Given the description of an element on the screen output the (x, y) to click on. 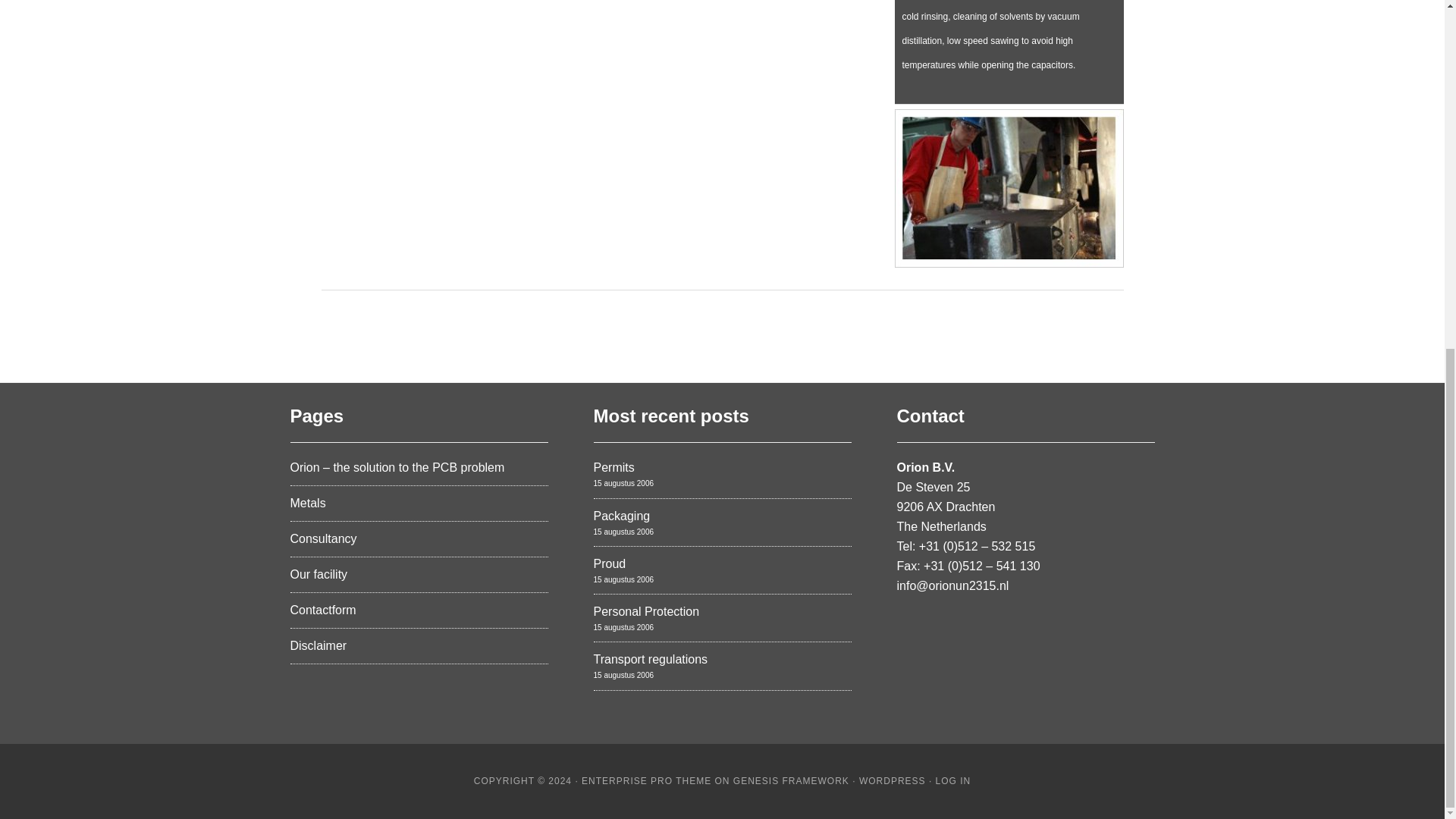
BAT and BET (1005, 35)
ENTERPRISE PRO THEME (645, 780)
Consultancy (322, 538)
Metals (306, 502)
Permits (612, 467)
Disclaimer (317, 645)
WORDPRESS (892, 780)
GENESIS FRAMEWORK (790, 780)
Transport regulations (649, 658)
Personal Protection (645, 611)
BAT en BET (1009, 272)
Packaging (620, 515)
Contactform (322, 609)
Our facility (318, 574)
Proud (609, 563)
